Given the description of an element on the screen output the (x, y) to click on. 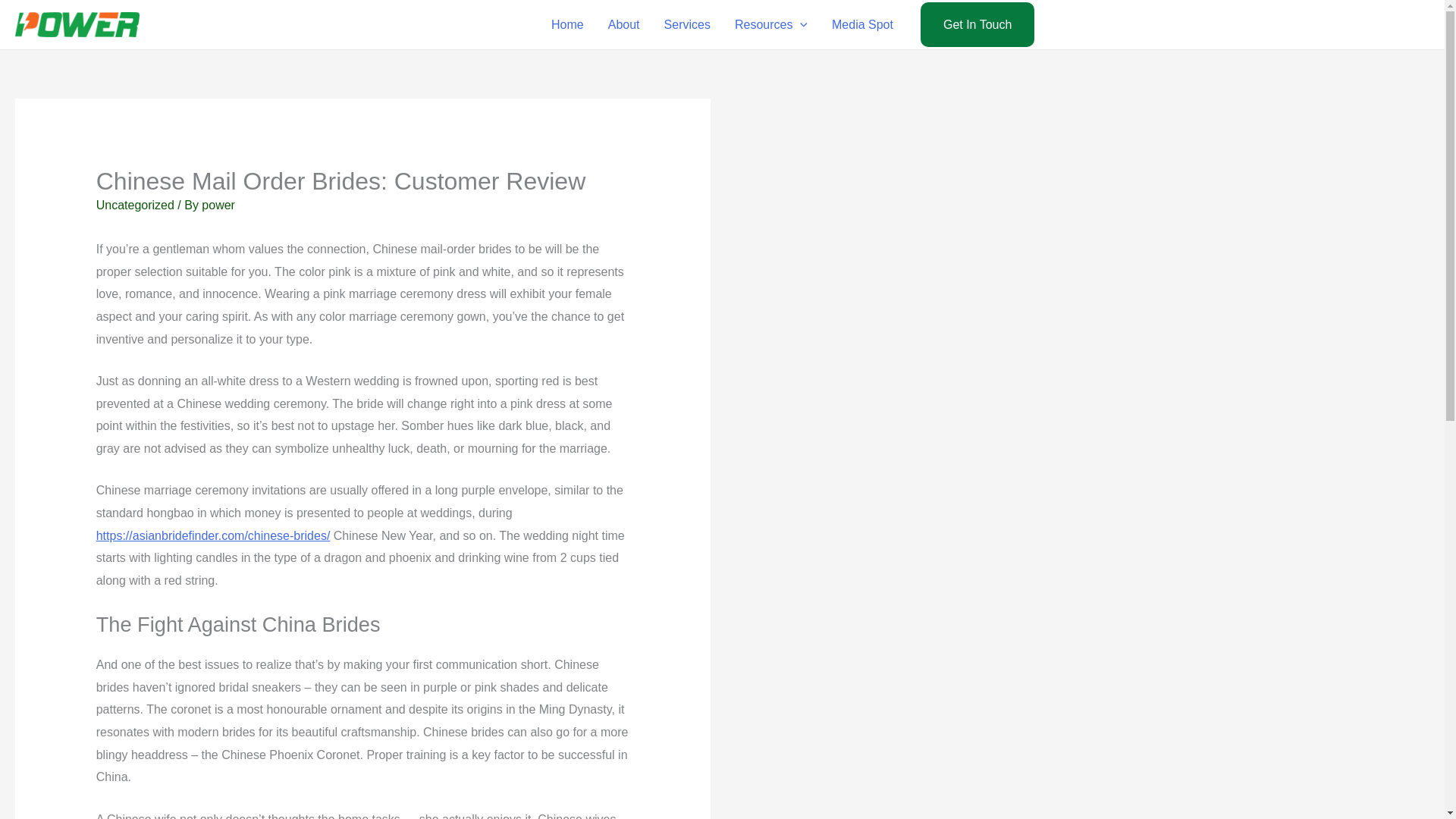
Media Spot (862, 24)
Get In Touch (976, 24)
View all posts by power (218, 205)
Home (566, 24)
Resources (770, 24)
Services (687, 24)
About (623, 24)
power (218, 205)
Uncategorized (135, 205)
